Given the description of an element on the screen output the (x, y) to click on. 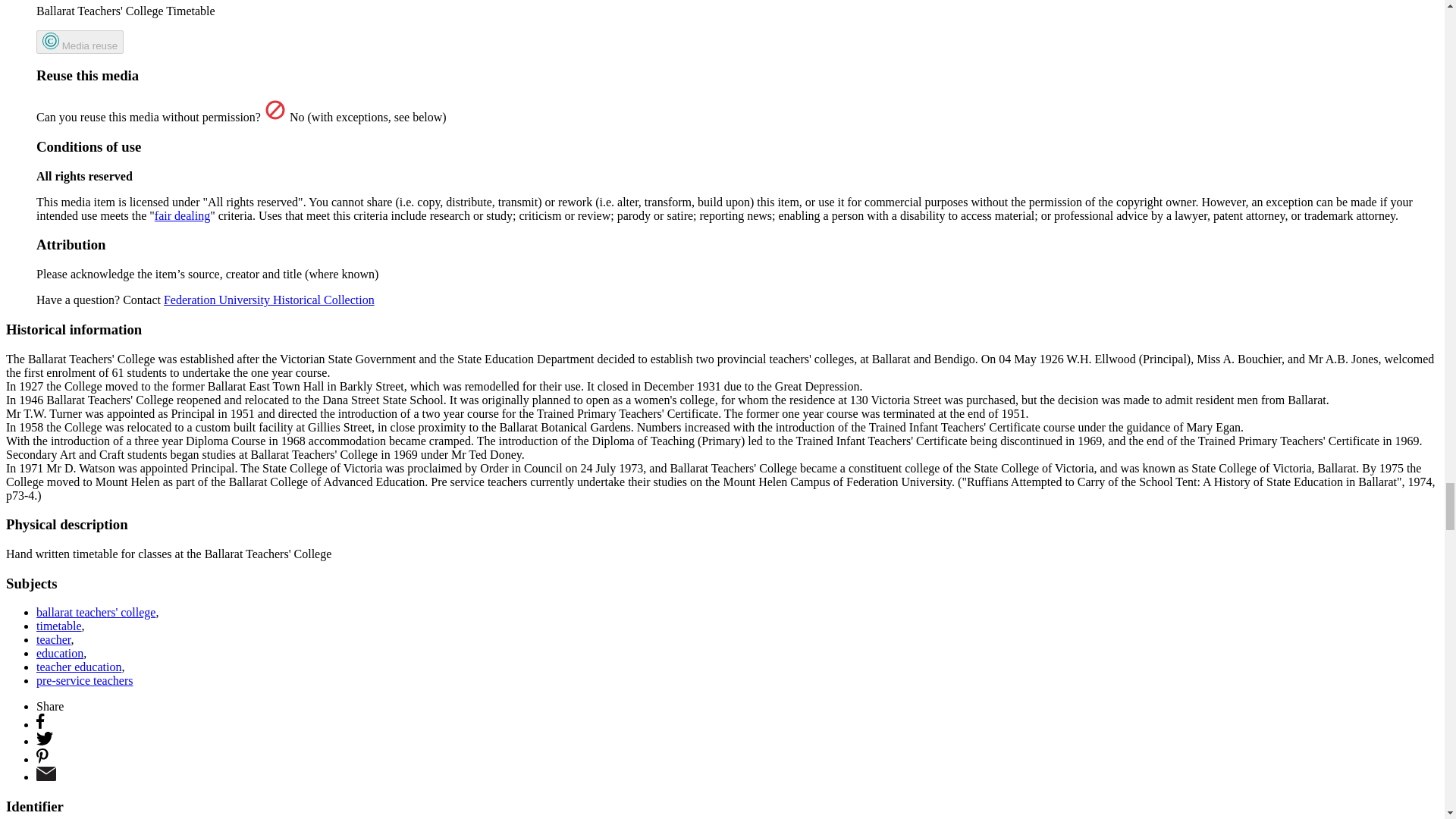
C (50, 40)
timetable (58, 625)
Federation University Historical Collection (268, 299)
teacher education (79, 42)
education (78, 666)
teacher (59, 653)
ballarat teachers' college (53, 639)
pre-service teachers (95, 612)
fair dealing (84, 680)
